Given the description of an element on the screen output the (x, y) to click on. 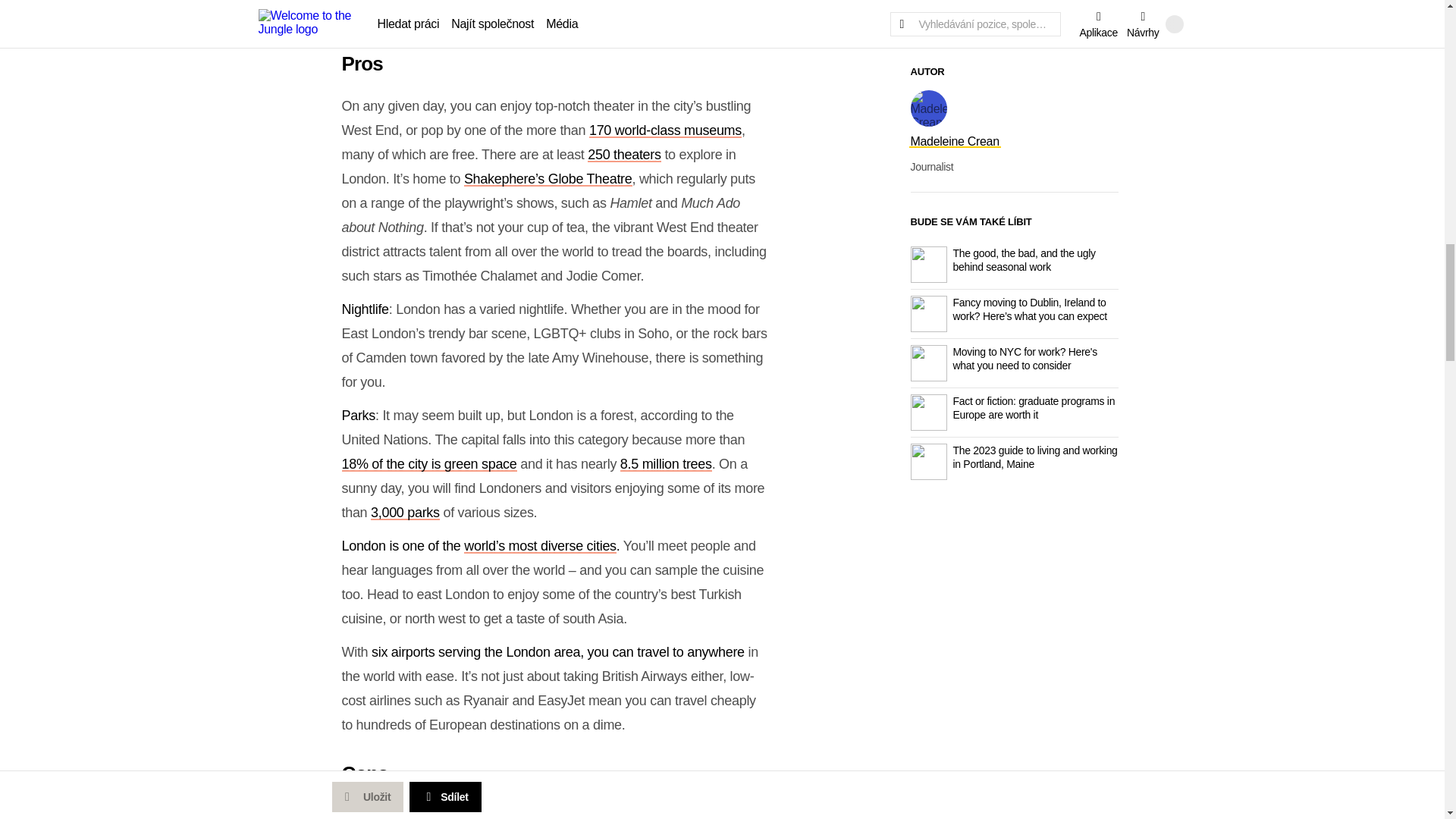
250 theaters (624, 154)
170 world-class museums (665, 130)
8.5 million trees (665, 463)
3,000 parks (405, 512)
